Given the description of an element on the screen output the (x, y) to click on. 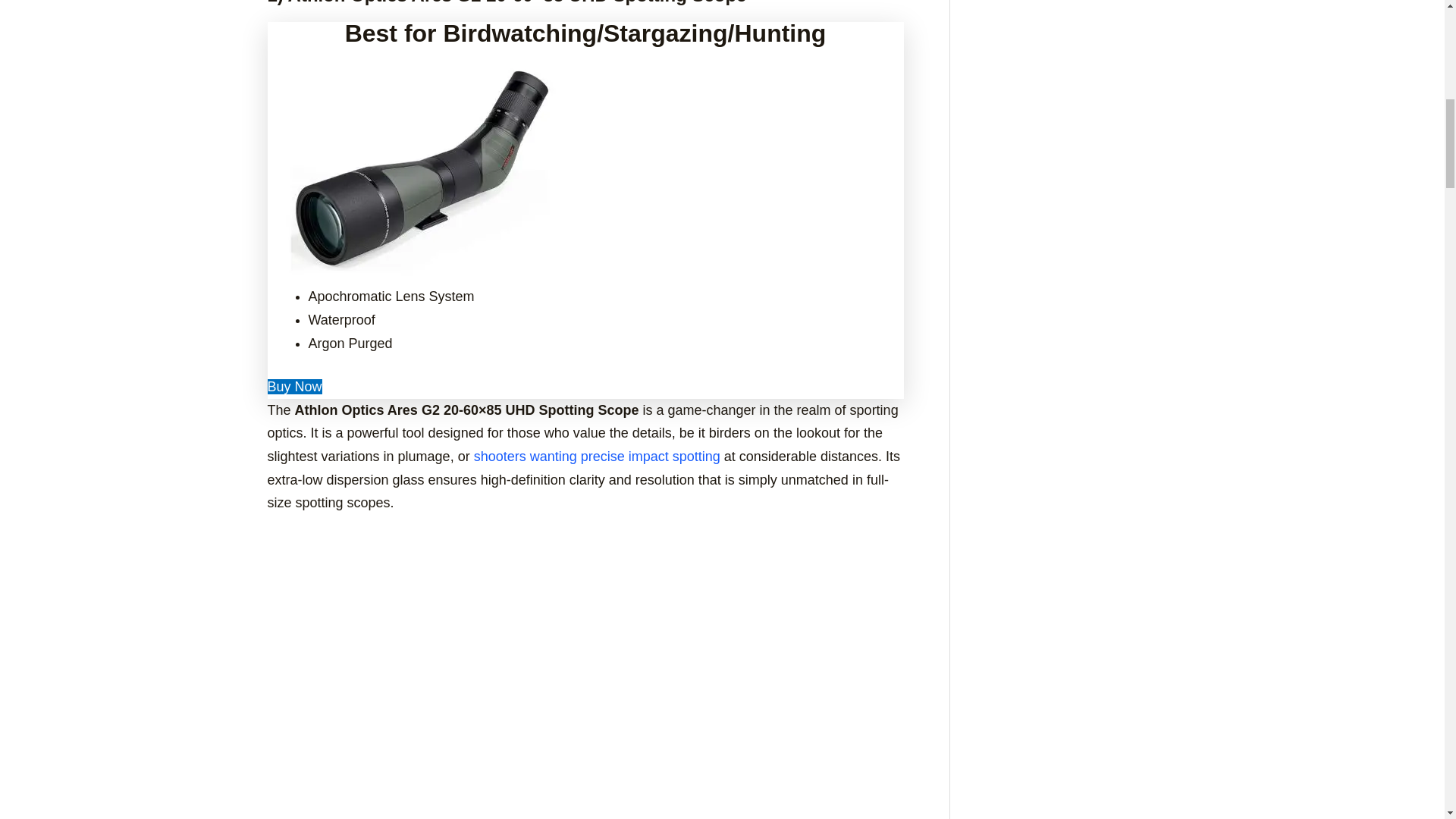
Buy Now (293, 386)
shooters wanting precise impact spotting (596, 456)
